Given the description of an element on the screen output the (x, y) to click on. 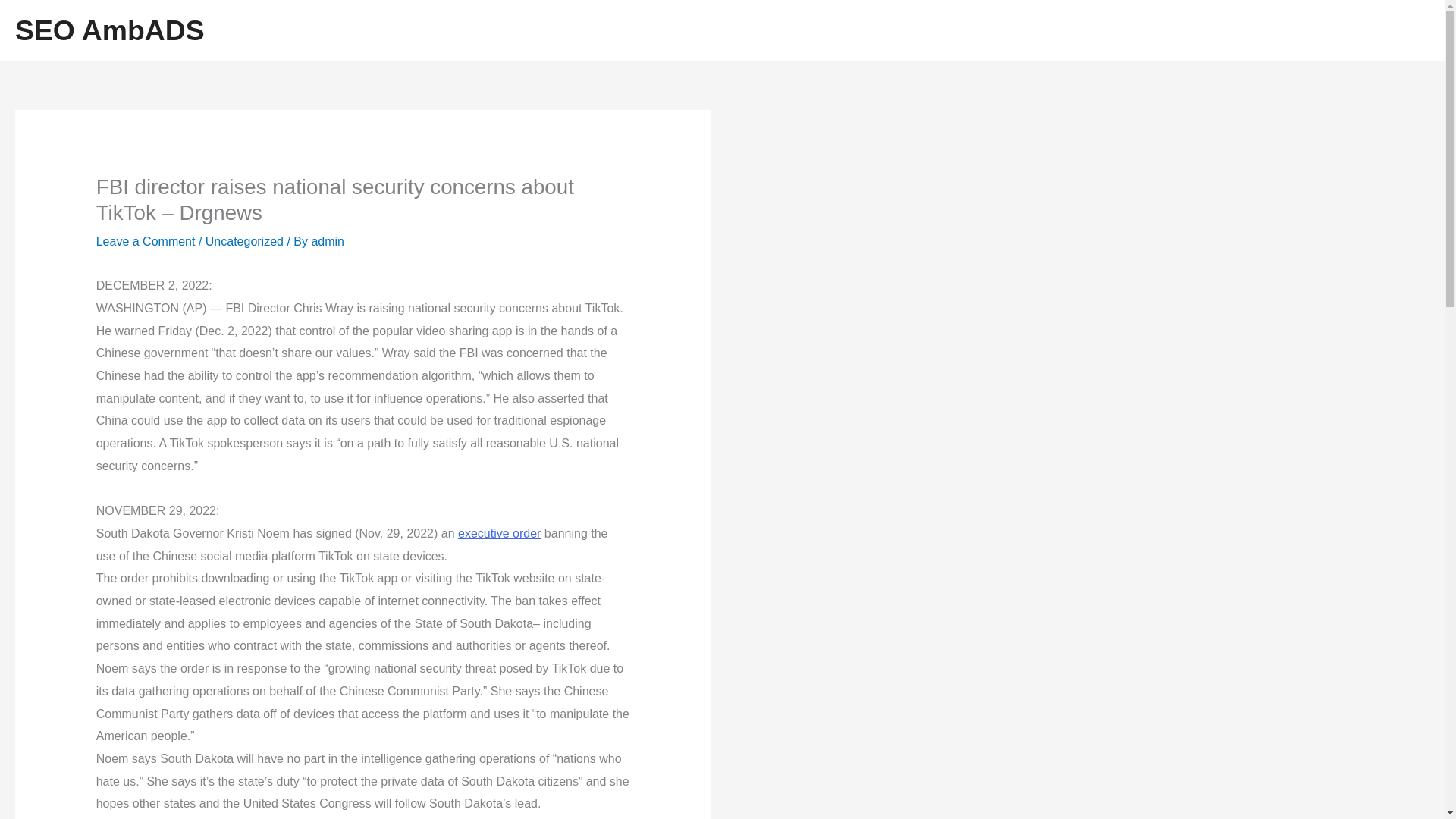
admin (327, 241)
Leave a Comment (145, 241)
executive order (499, 533)
View all posts by admin (327, 241)
SEO AmbADS (109, 29)
Uncategorized (244, 241)
